Given the description of an element on the screen output the (x, y) to click on. 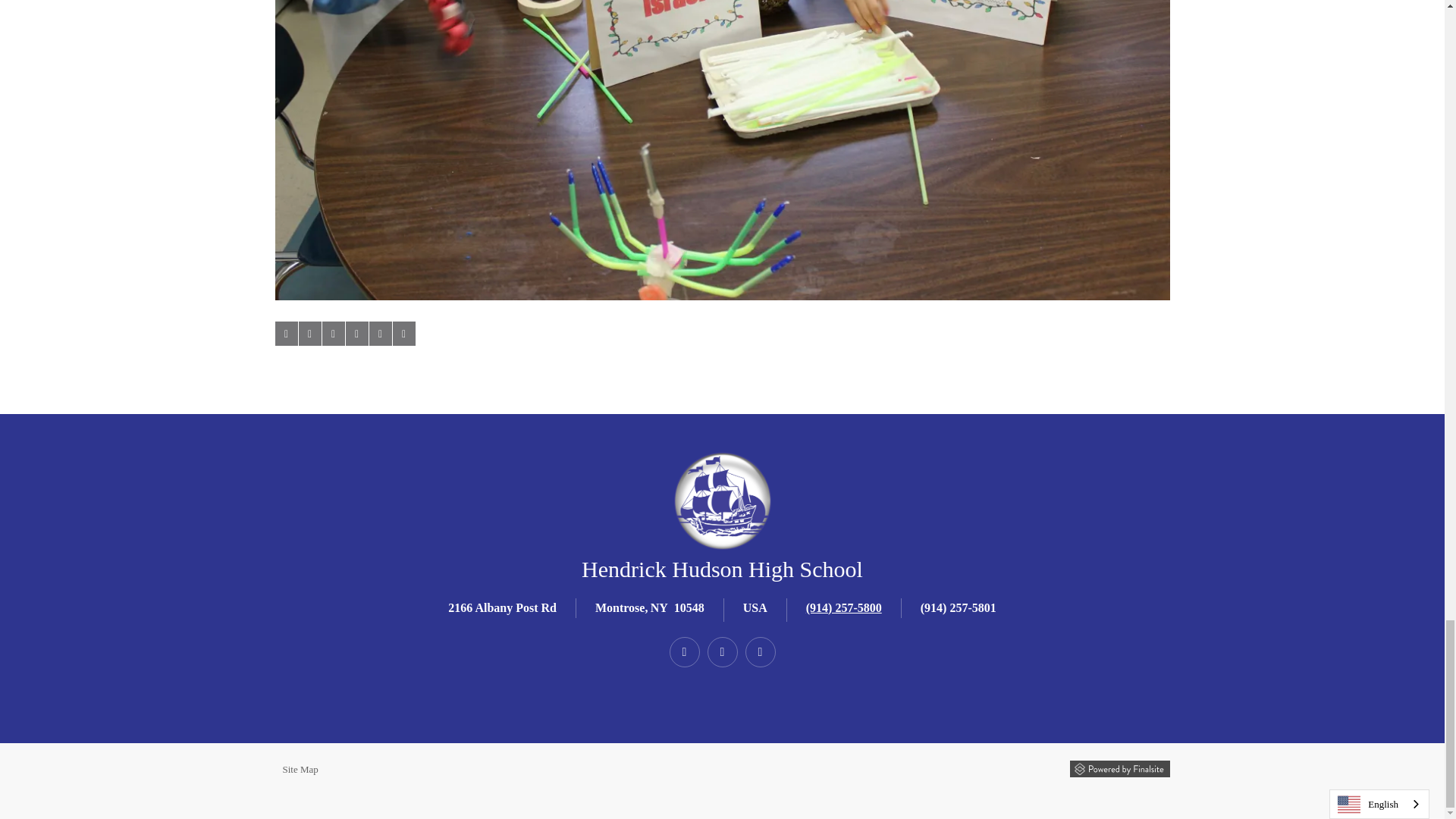
Powered by Finalsite opens in a new window (1118, 768)
Share to Pinterest (357, 333)
Share to LinkedIn (332, 333)
Print this page (403, 333)
Share to Email (379, 333)
Share to Facebook (286, 333)
Share to Twitter (309, 333)
